Given the description of an element on the screen output the (x, y) to click on. 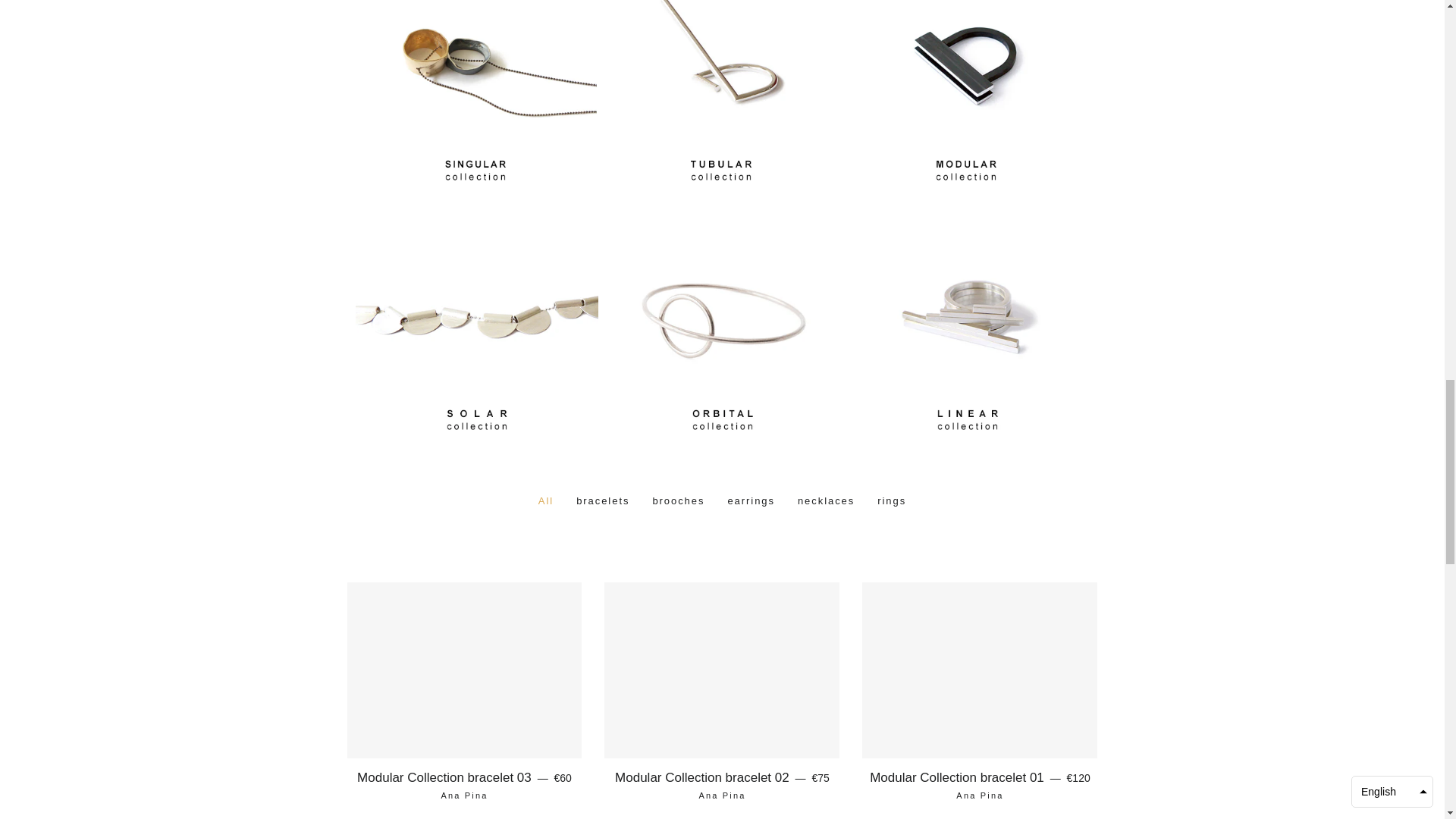
modular collection (965, 189)
orbital collection (721, 439)
singular collection (474, 189)
Show products matching tag brooches (678, 500)
Show products matching tag rings (891, 500)
Show products matching tag earrings (751, 500)
solar collection (476, 439)
Show products matching tag bracelets (602, 500)
Show products matching tag necklaces (826, 500)
linear collection (967, 439)
